Given the description of an element on the screen output the (x, y) to click on. 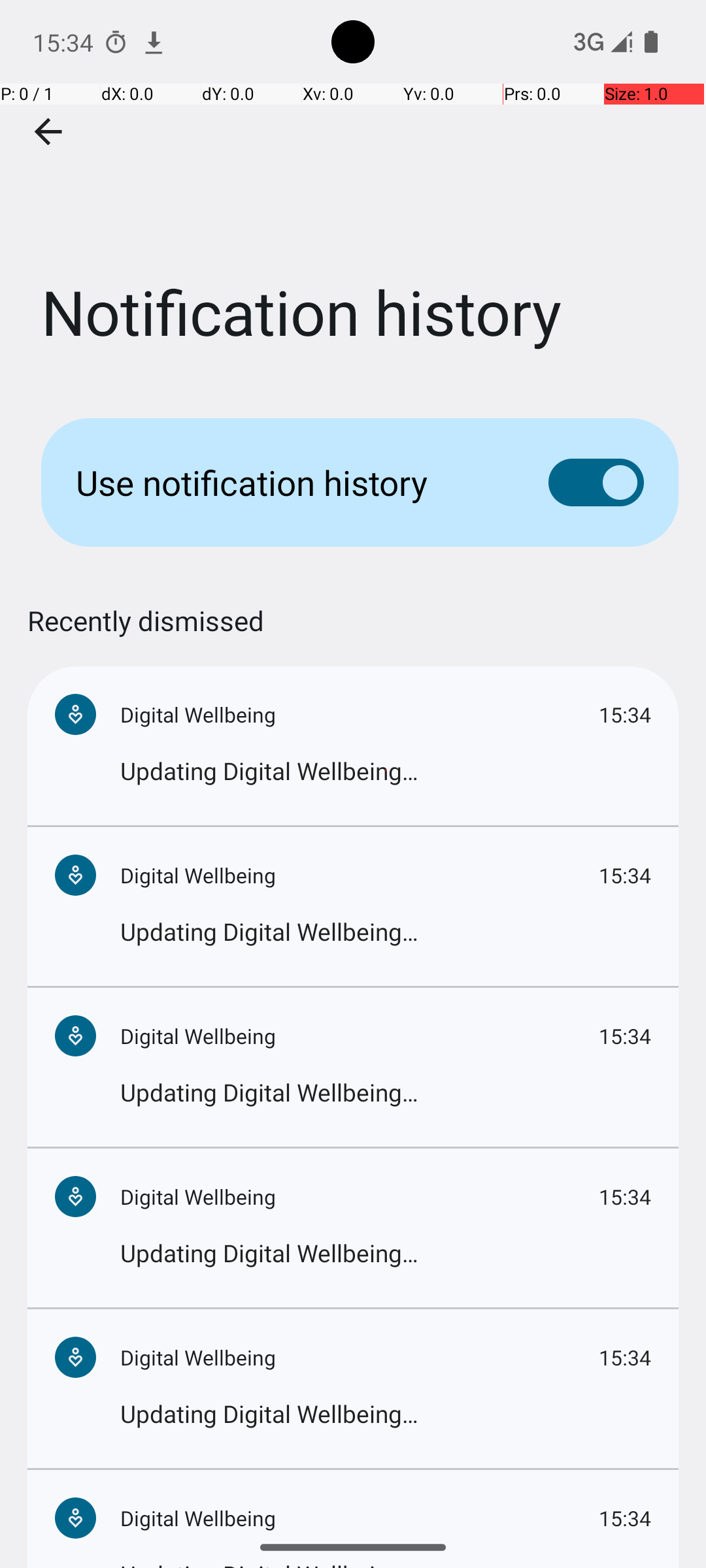
Recently dismissed Element type: android.widget.TextView (145, 633)
Updating Digital Wellbeing… Element type: android.widget.TextView (385, 770)
